Given the description of an element on the screen output the (x, y) to click on. 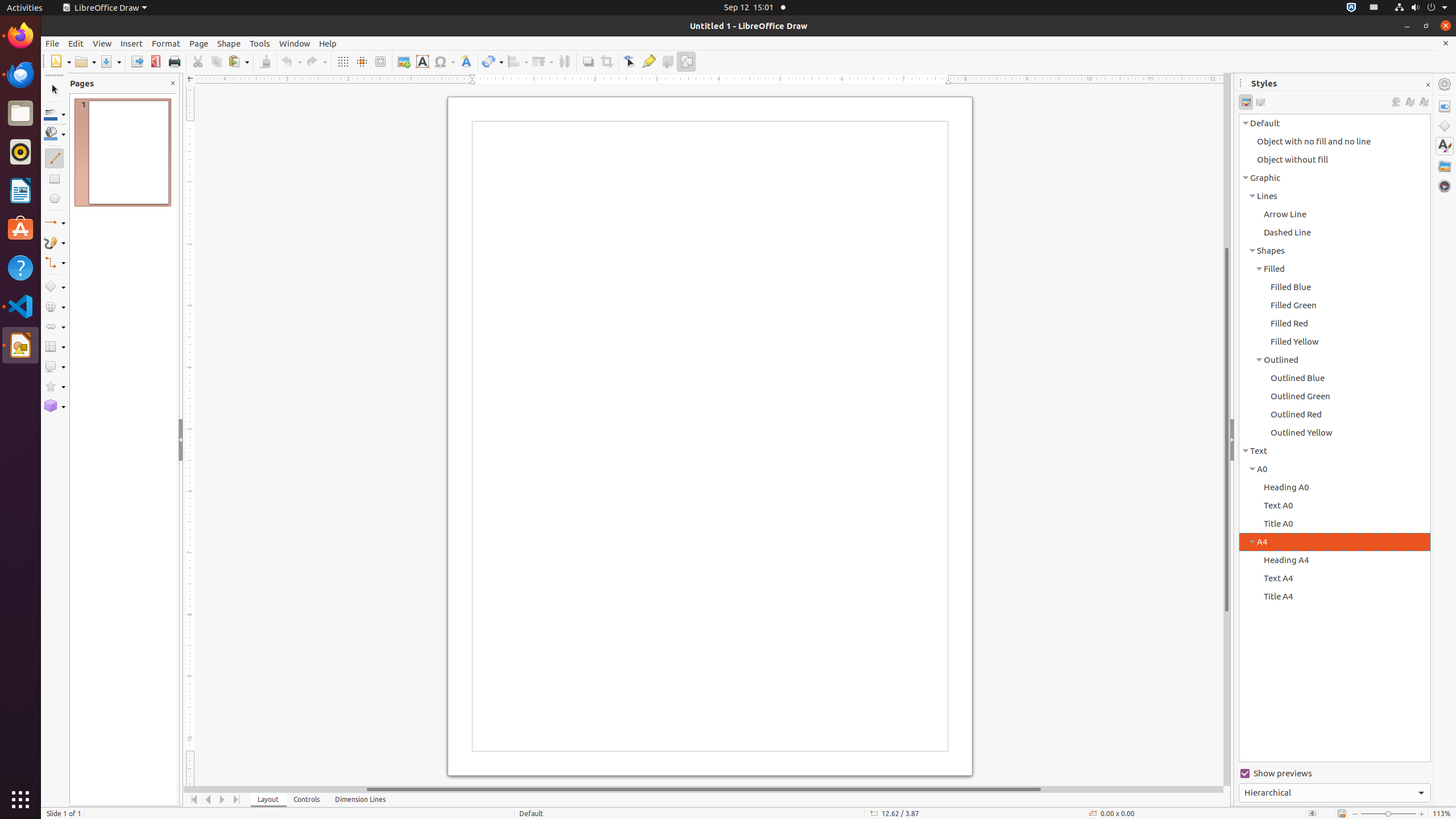
Cut Element type: push-button (197, 61)
Properties Element type: radio-button (1444, 106)
Close Pane Element type: push-button (172, 82)
Tools Element type: menu (259, 43)
Horizontal Ruler Element type: ruler (703, 79)
